Given the description of an element on the screen output the (x, y) to click on. 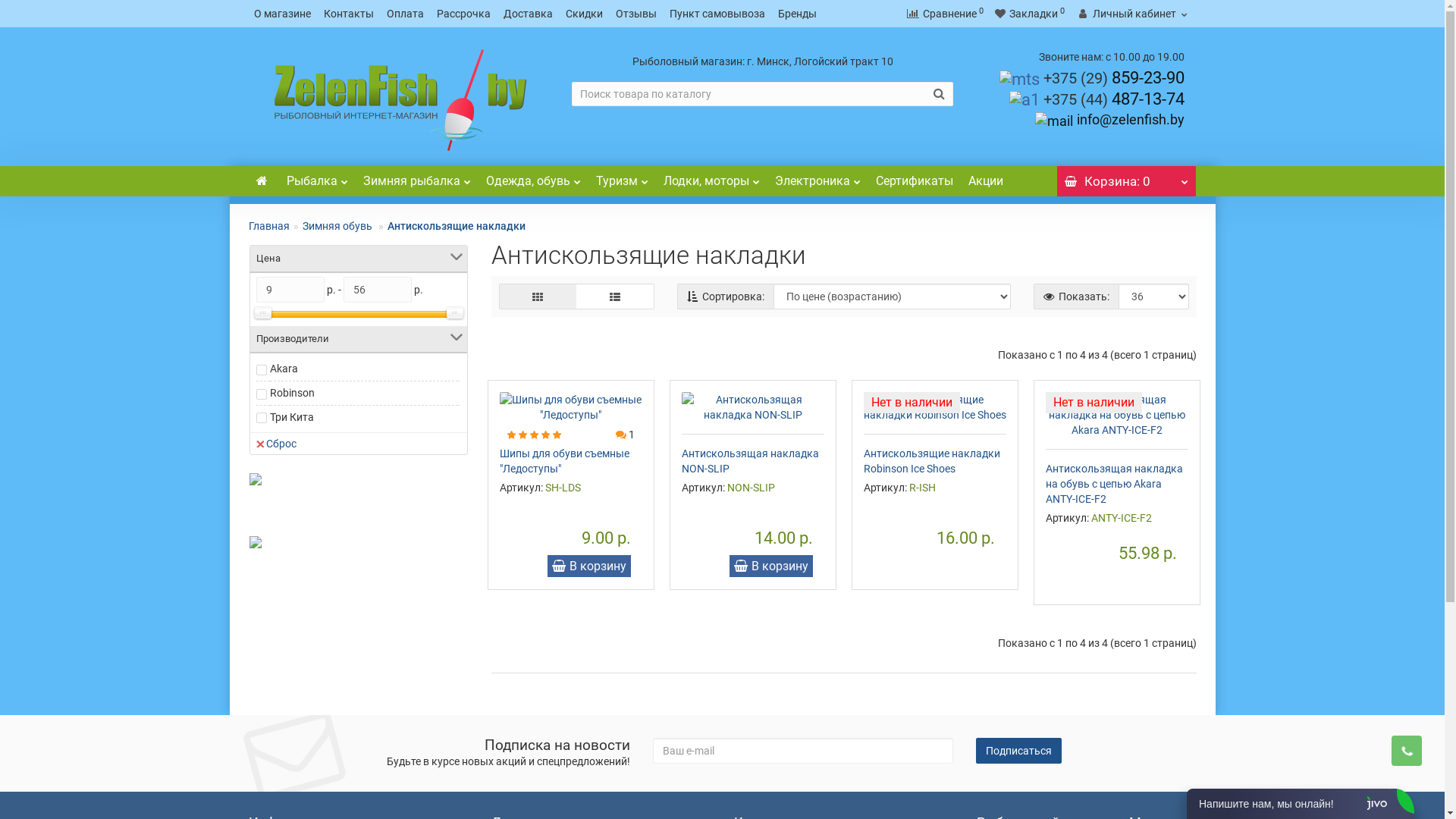
+375 (29) 859-23-90 Element type: text (1113, 77)
Akara Element type: text (283, 368)
+375 (44) 487-13-74 Element type: text (1113, 98)
Robinson Element type: text (291, 392)
